Given the description of an element on the screen output the (x, y) to click on. 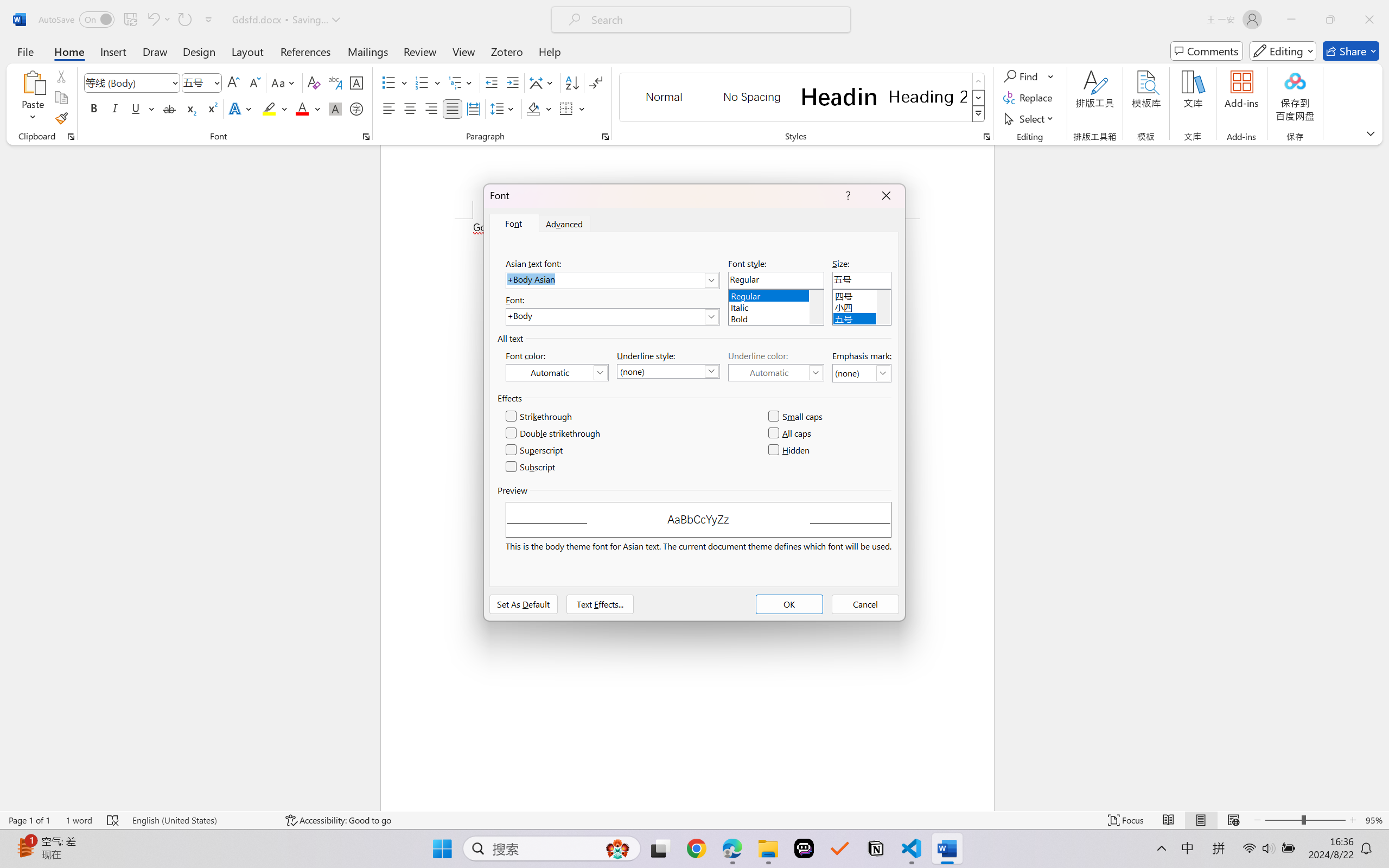
Font style: (775, 280)
Font: (612, 316)
Shading RGB(0, 0, 0) (533, 108)
Bold (775, 316)
Sort... (571, 82)
Text Effects and Typography (241, 108)
Poe (804, 848)
Subscript (530, 466)
Google Chrome (696, 848)
